Given the description of an element on the screen output the (x, y) to click on. 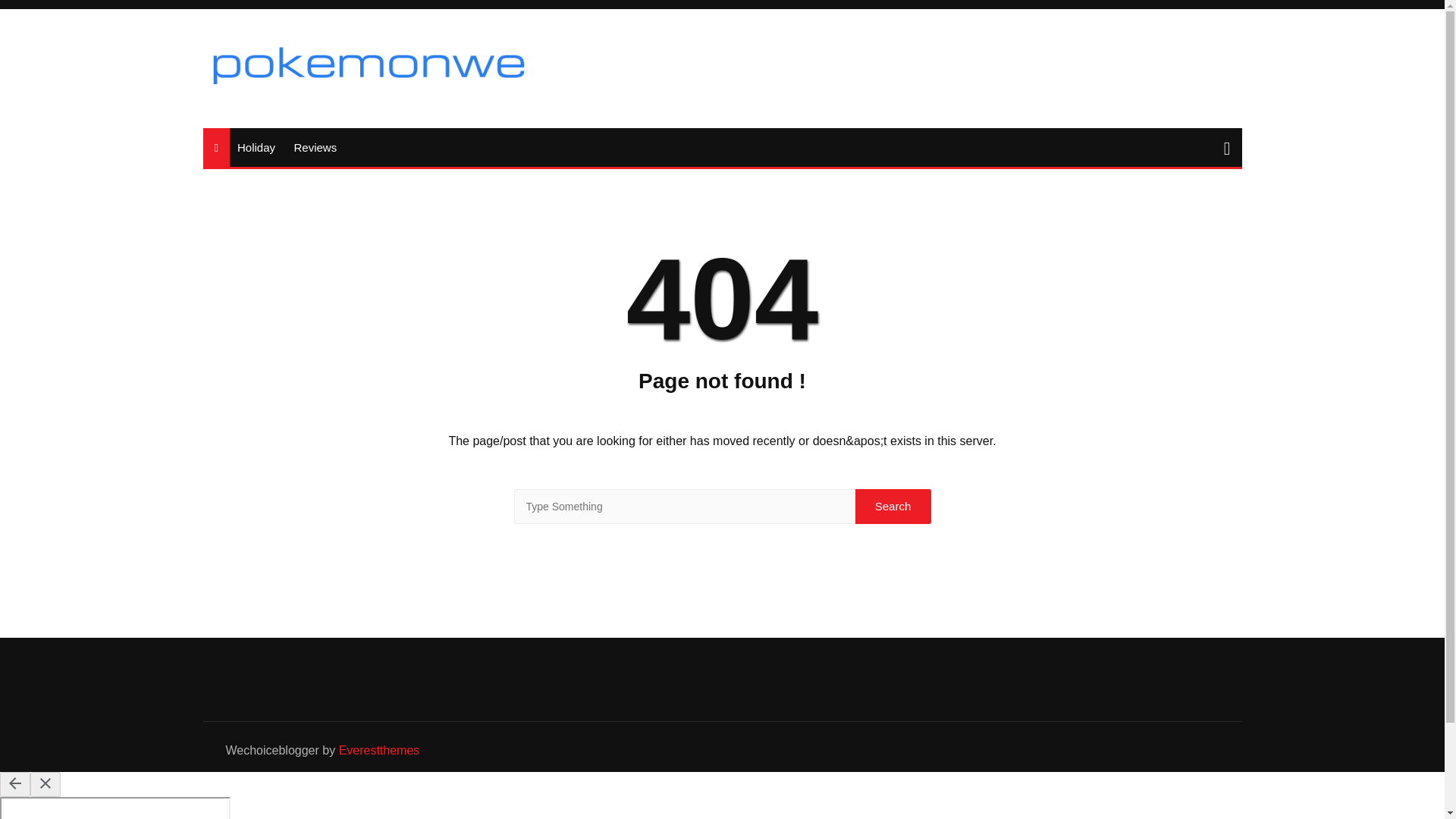
Holiday (256, 147)
Search (893, 506)
Everestthemes (379, 749)
Reviews (314, 147)
Search (893, 506)
